Given the description of an element on the screen output the (x, y) to click on. 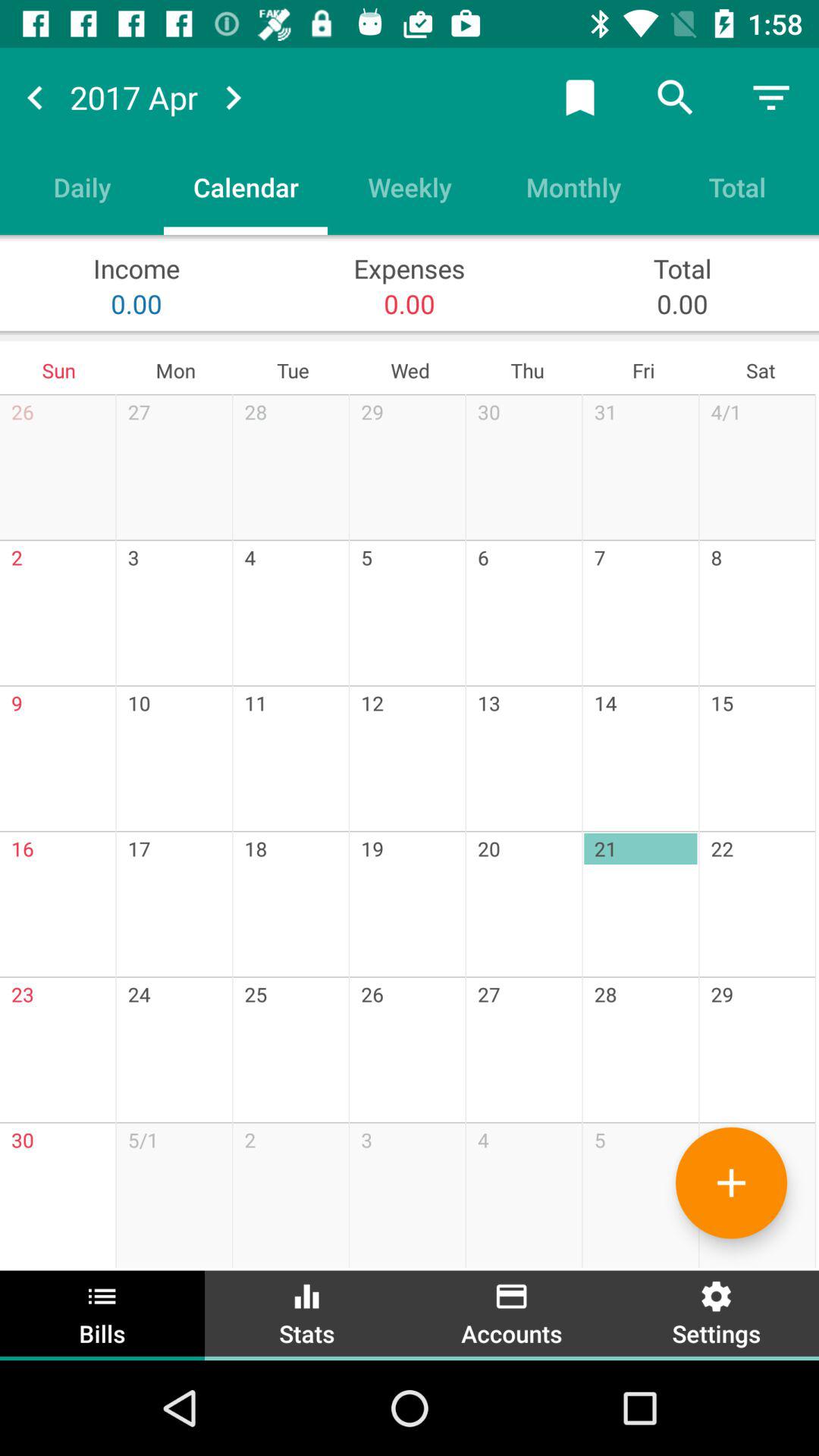
jump to the monthly icon (573, 186)
